Given the description of an element on the screen output the (x, y) to click on. 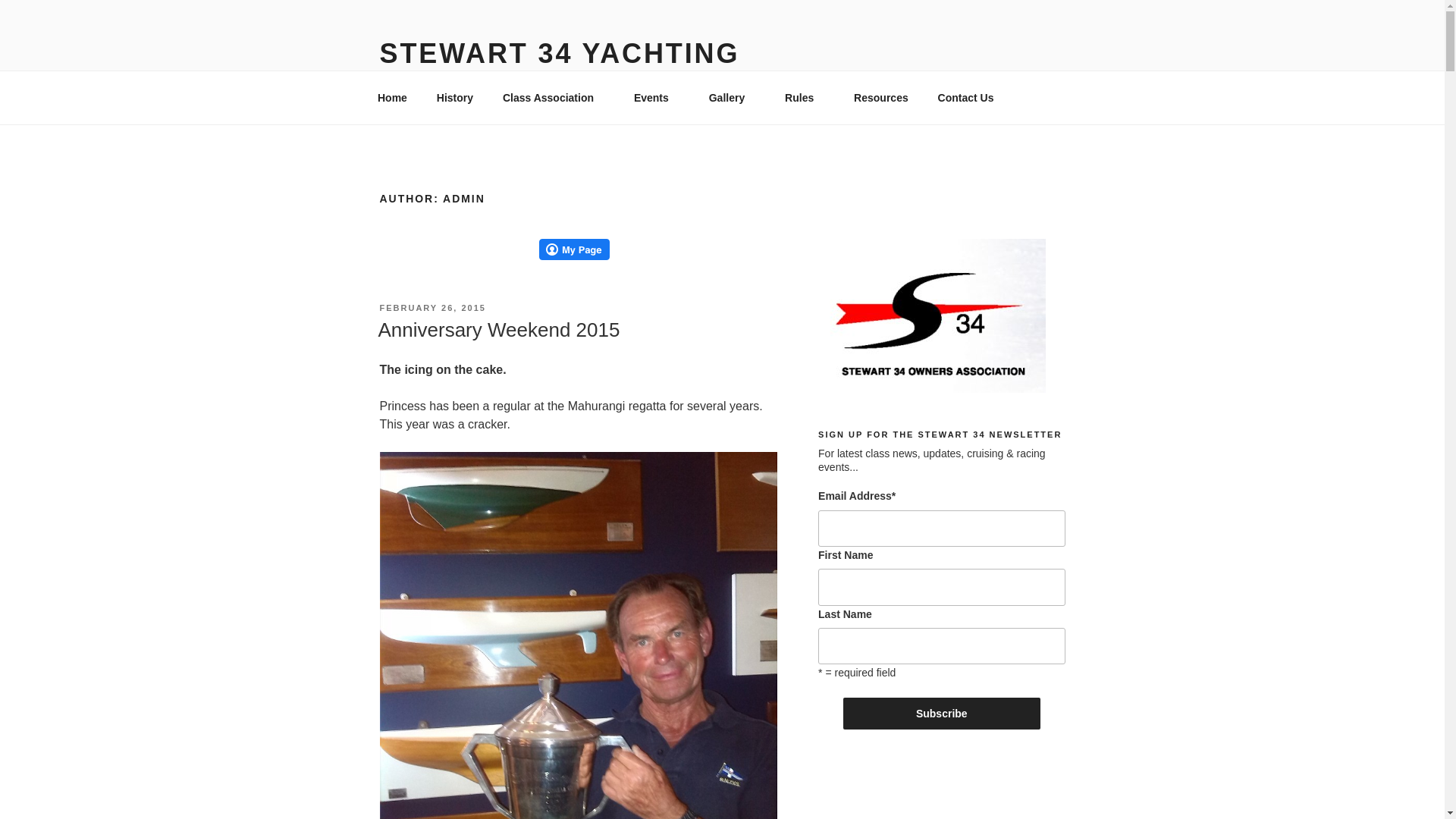
Events (656, 97)
History (454, 97)
Anniversary Weekend 2015 (498, 329)
STEWART 34 YACHTING (558, 52)
Home (392, 97)
Class Association (553, 97)
Rules (804, 97)
Gallery (731, 97)
Subscribe (942, 713)
FEBRUARY 26, 2015 (431, 307)
